Given the description of an element on the screen output the (x, y) to click on. 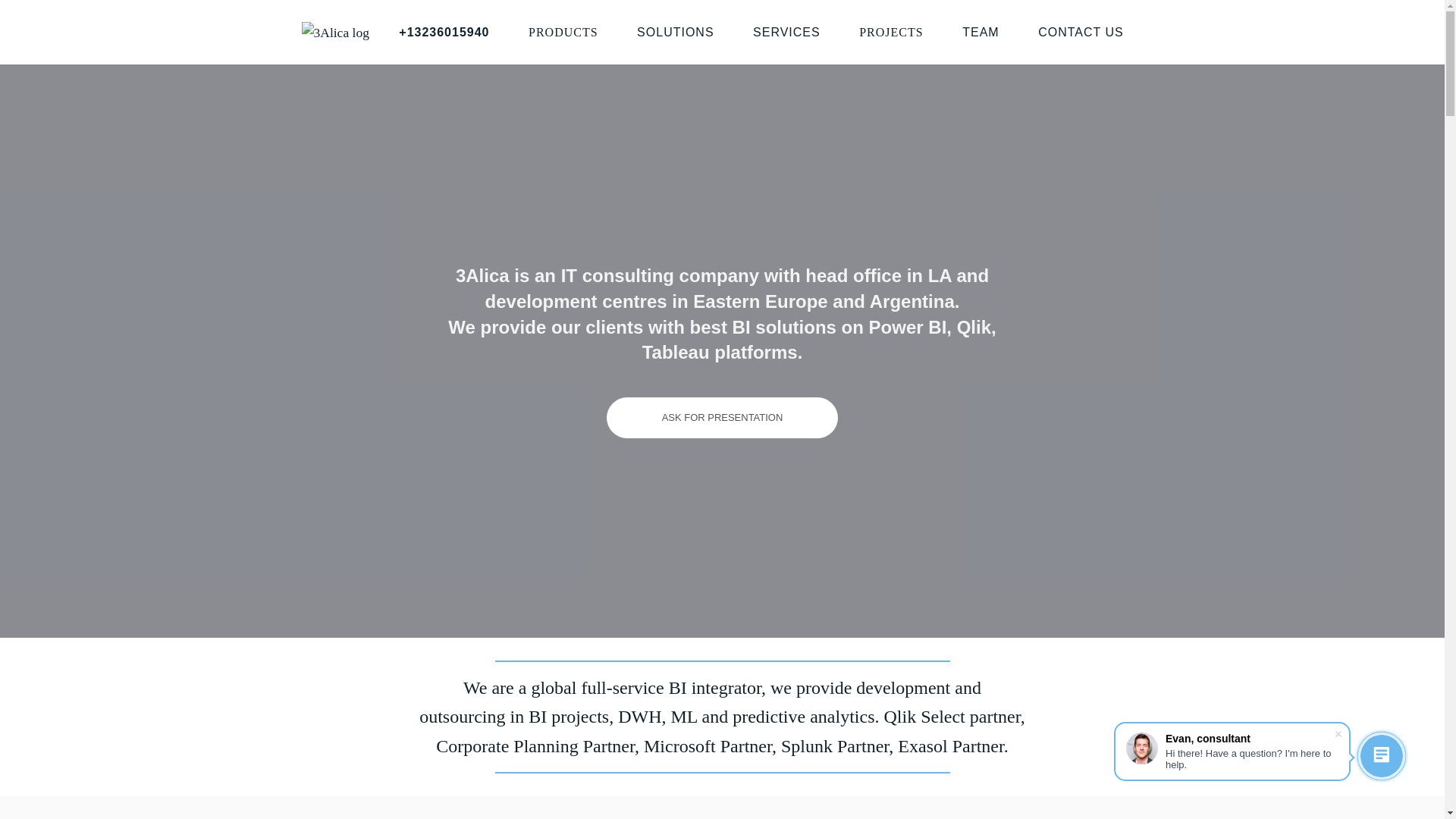
+13236015940 Element type: text (443, 32)
SOLUTIONS Element type: text (675, 32)
PROJECTS Element type: text (890, 32)
SERVICES Element type: text (786, 32)
CONTACT US Element type: text (1080, 32)
PRODUCTS Element type: text (563, 32)
TEAM Element type: text (980, 32)
ASK FOR PRESENTATION Element type: text (722, 417)
